Given the description of an element on the screen output the (x, y) to click on. 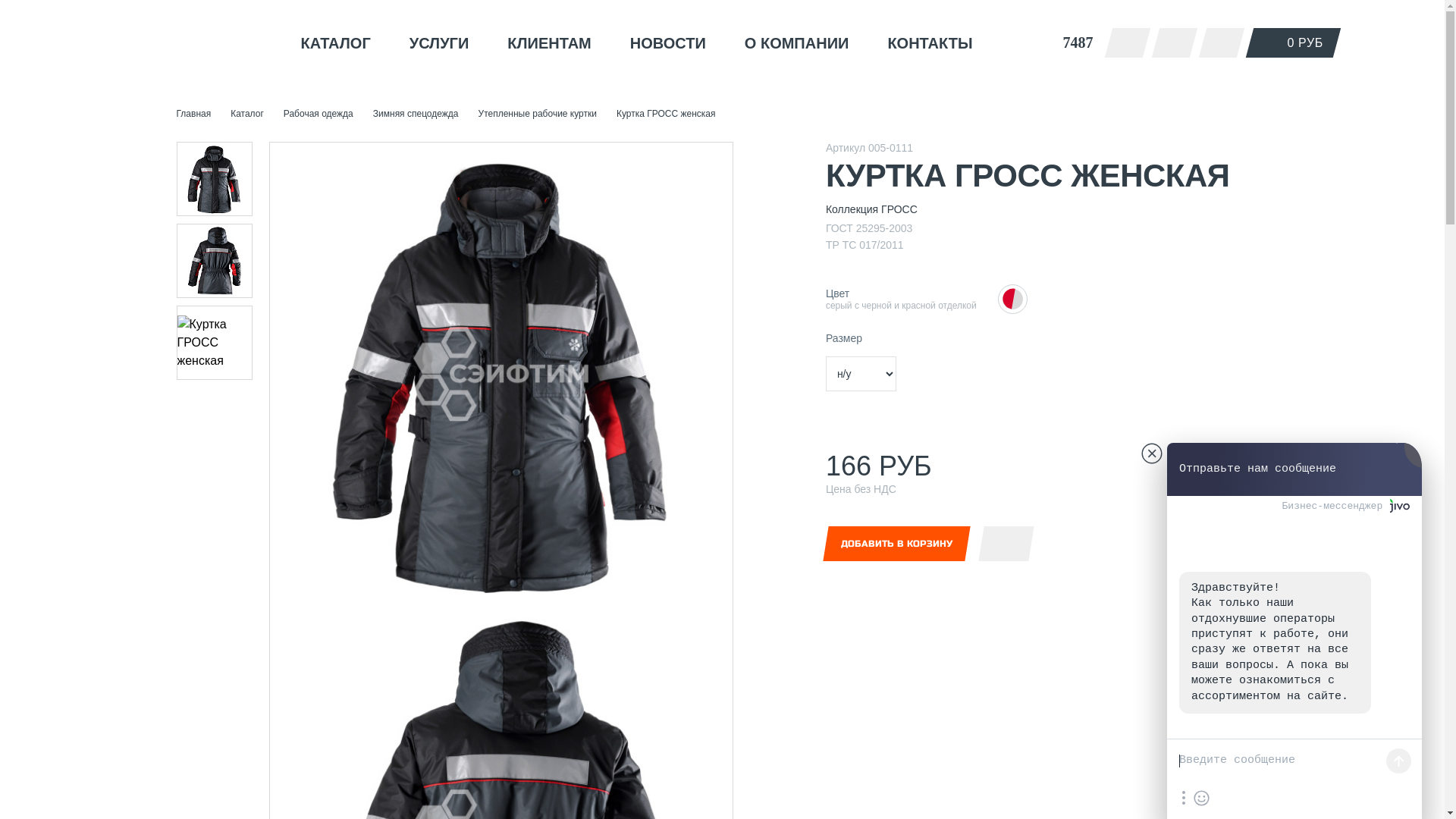
7487 Element type: text (1070, 42)
